Given the description of an element on the screen output the (x, y) to click on. 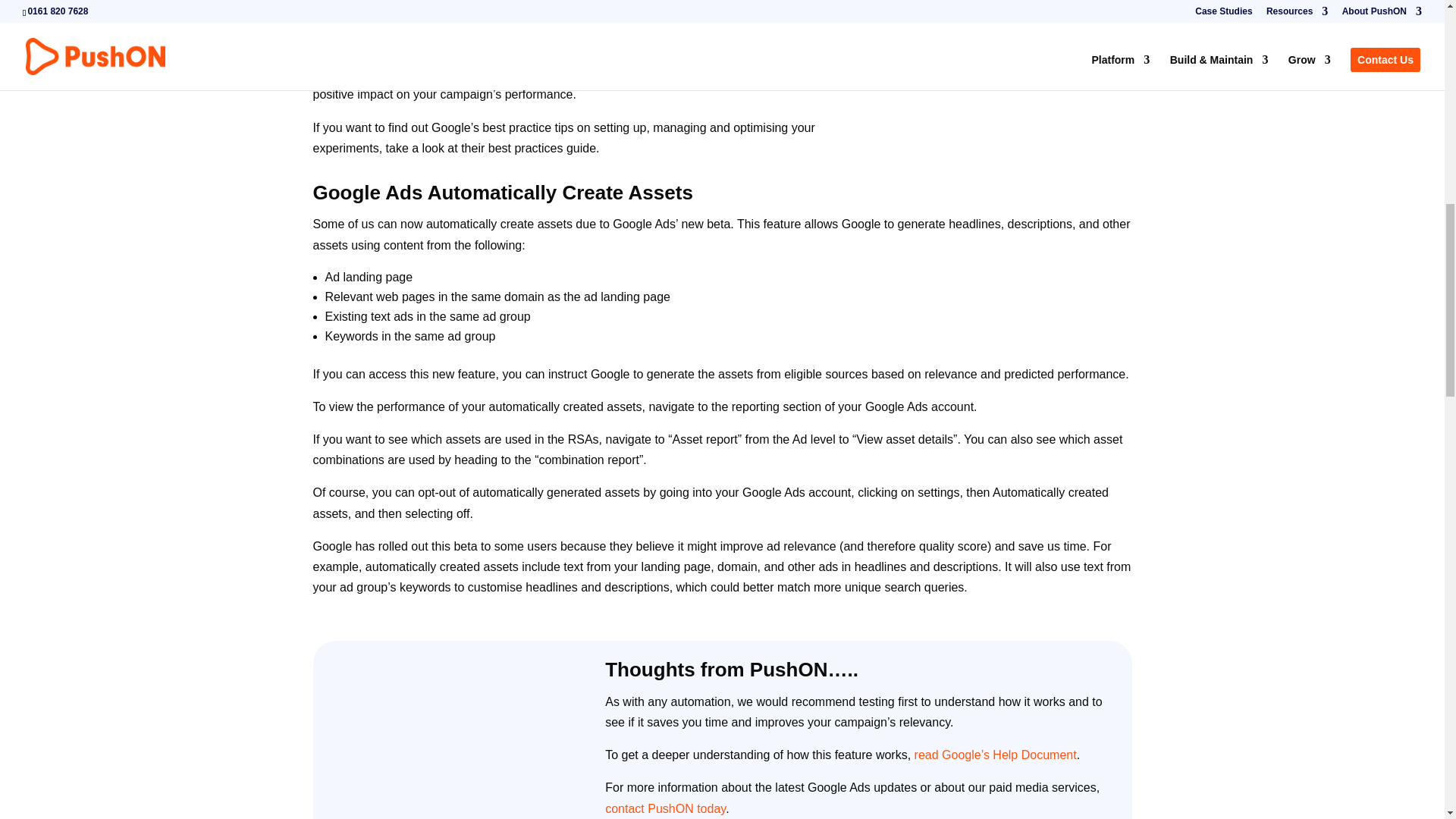
Meta Logo (1009, 40)
